Given the description of an element on the screen output the (x, y) to click on. 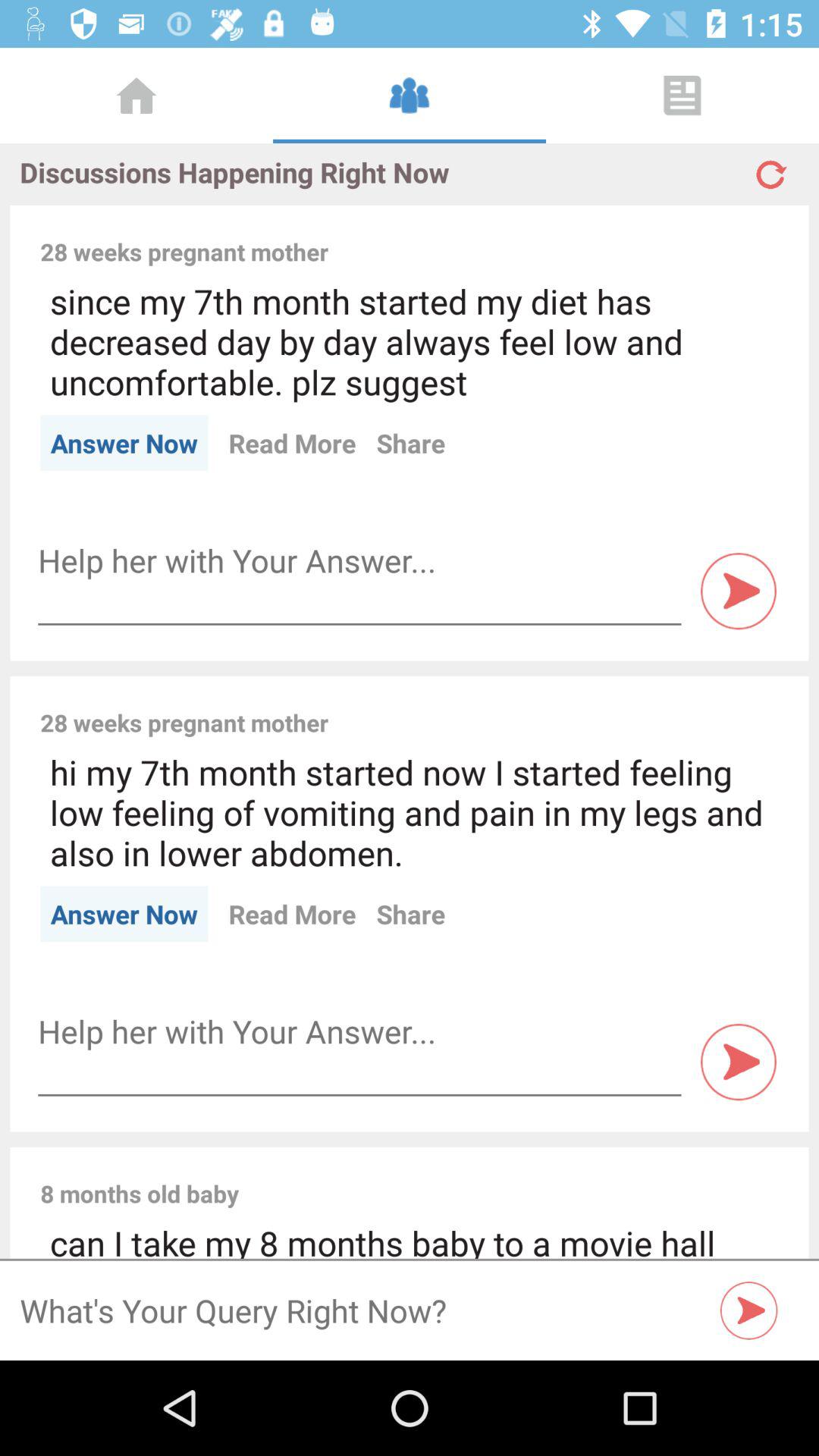
select the icon to the right of the 8 months old (518, 1176)
